Given the description of an element on the screen output the (x, y) to click on. 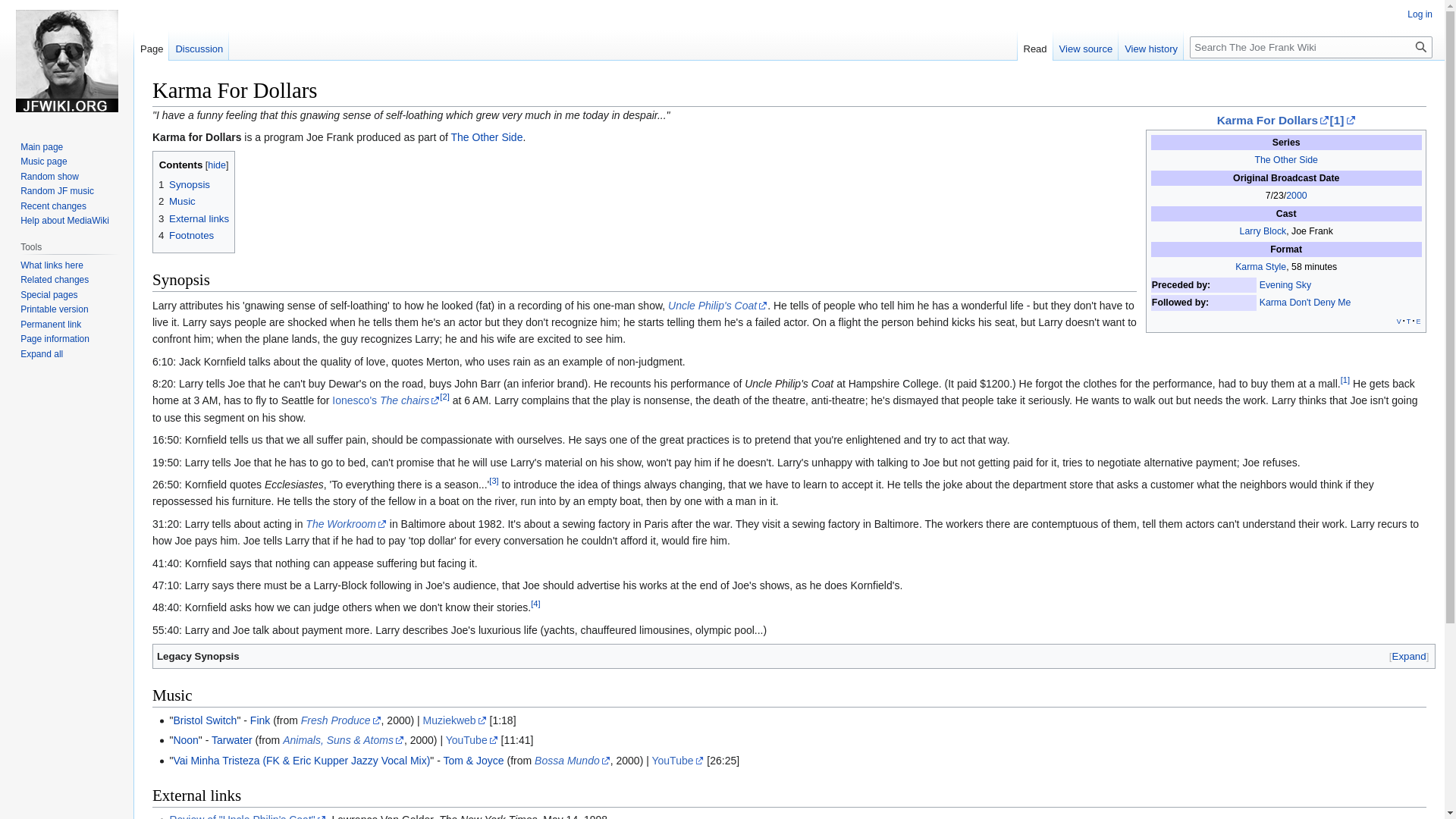
Category:Fink (259, 720)
Go (1420, 46)
Bristol Switch (204, 720)
Karma Don't Deny Me (1305, 302)
Muziekweb (454, 720)
Tarwater (231, 739)
2 Music (176, 201)
4 Footnotes (186, 235)
Fresh Produce (341, 720)
Ionesco's The chairs (385, 399)
Search (1420, 46)
Expand (1409, 656)
Category:Tarwater (231, 739)
Evening Sky (1285, 285)
